Given the description of an element on the screen output the (x, y) to click on. 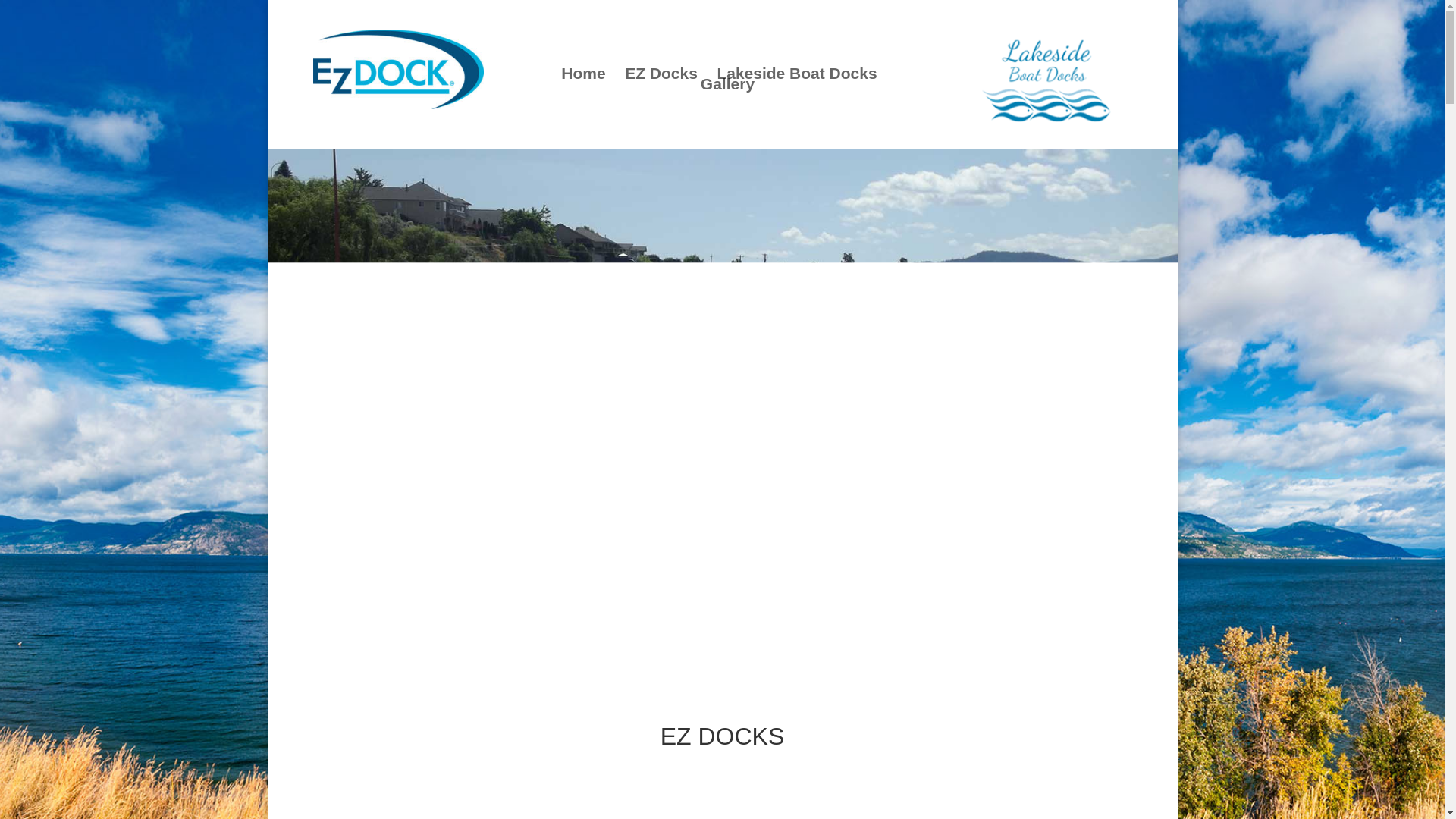
EZ Docks (660, 72)
Home (582, 72)
Gallery (727, 83)
Lakeside Boat Docks (796, 72)
Lakeside Boat Docks (1045, 78)
